Given the description of an element on the screen output the (x, y) to click on. 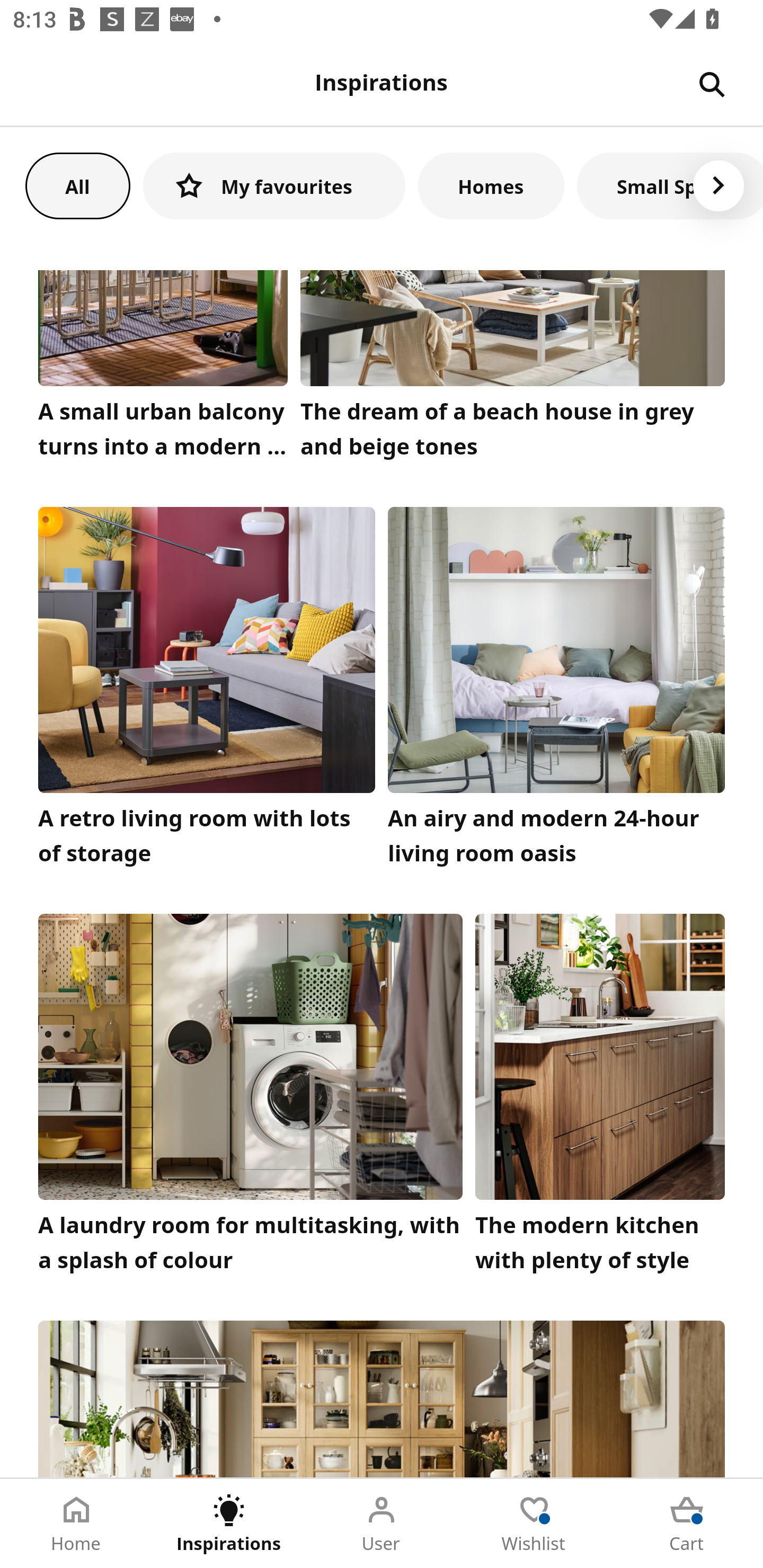
All (77, 185)
My favourites (274, 185)
Homes (491, 185)
A retro living room with lots of storage (206, 690)
An airy and modern 24-hour living room oasis (555, 690)
The modern kitchen with plenty of style (599, 1098)
Home
Tab 1 of 5 (76, 1522)
Inspirations
Tab 2 of 5 (228, 1522)
User
Tab 3 of 5 (381, 1522)
Wishlist
Tab 4 of 5 (533, 1522)
Cart
Tab 5 of 5 (686, 1522)
